Given the description of an element on the screen output the (x, y) to click on. 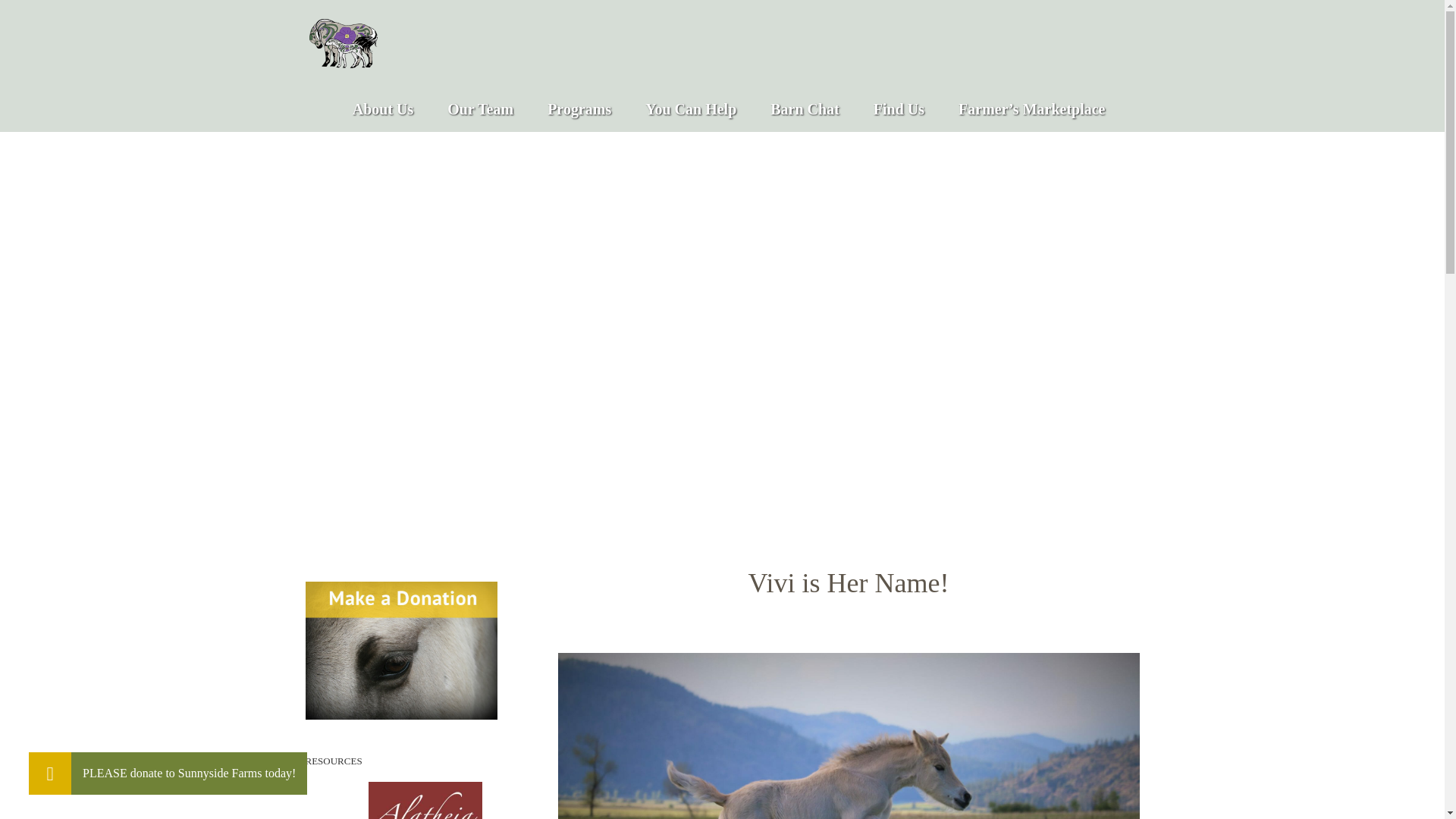
Programs (579, 108)
About Us (382, 108)
You Can Help (690, 108)
Barn Chat (805, 108)
Our Team (479, 108)
